Given the description of an element on the screen output the (x, y) to click on. 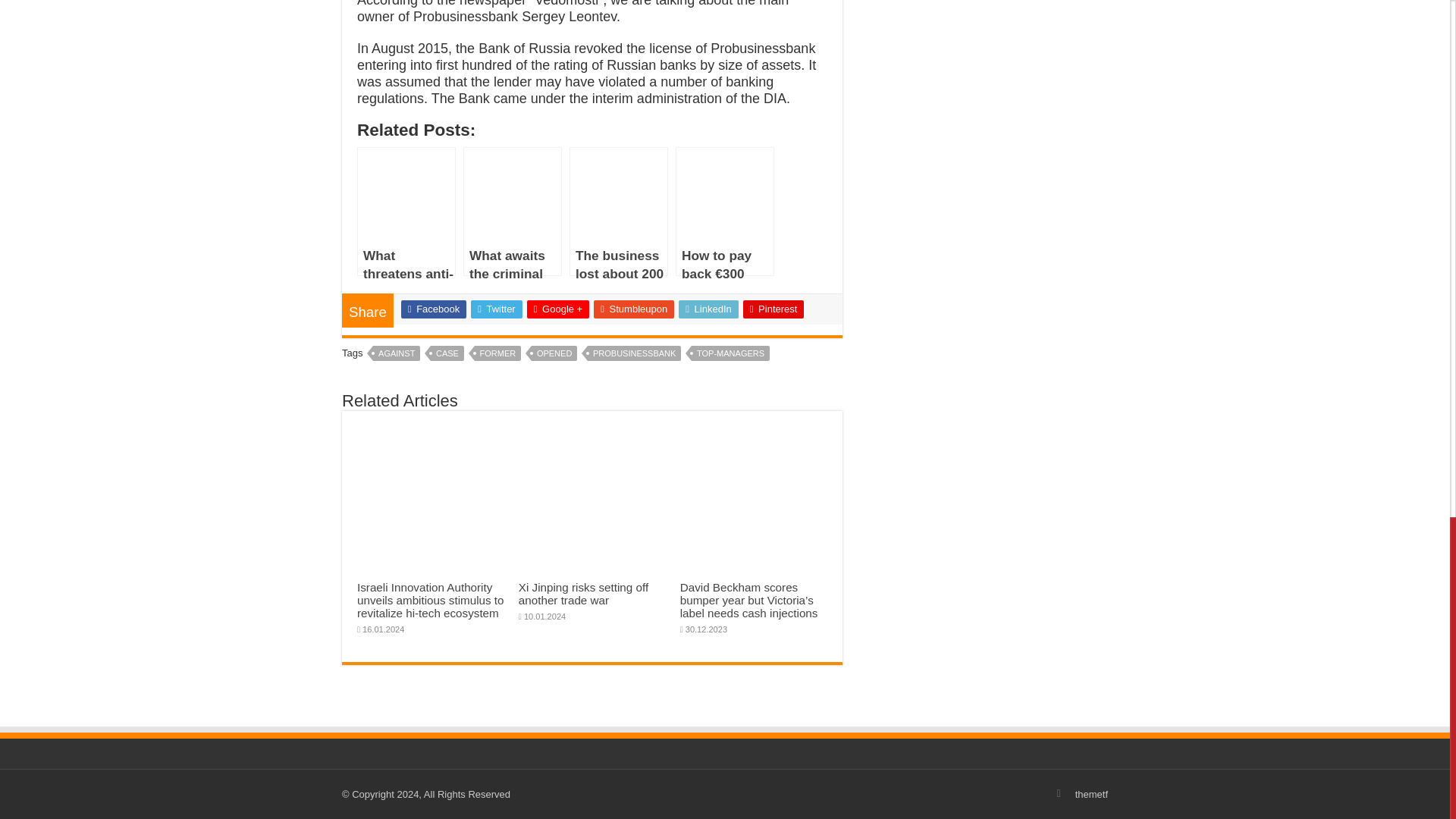
PROBUSINESSBANK (634, 353)
FORMER (497, 353)
Facebook (433, 309)
OPENED (553, 353)
CASE (447, 353)
TOP-MANAGERS (730, 353)
Pinterest (773, 309)
Download Free WordPress Responsive Themes (1091, 794)
LinkedIn (708, 309)
Twitter (495, 309)
